Given the description of an element on the screen output the (x, y) to click on. 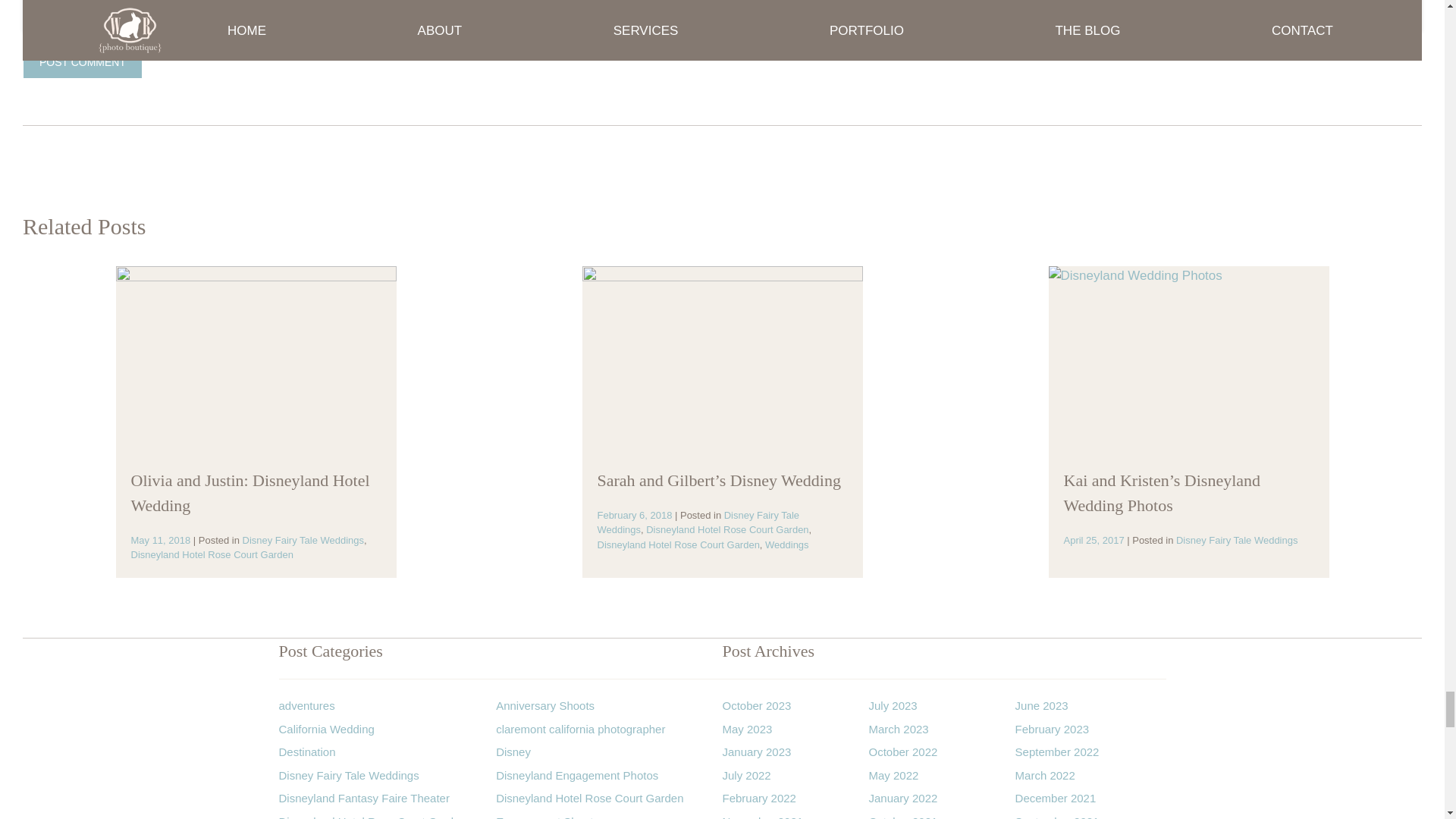
Post Comment (82, 61)
